Given the description of an element on the screen output the (x, y) to click on. 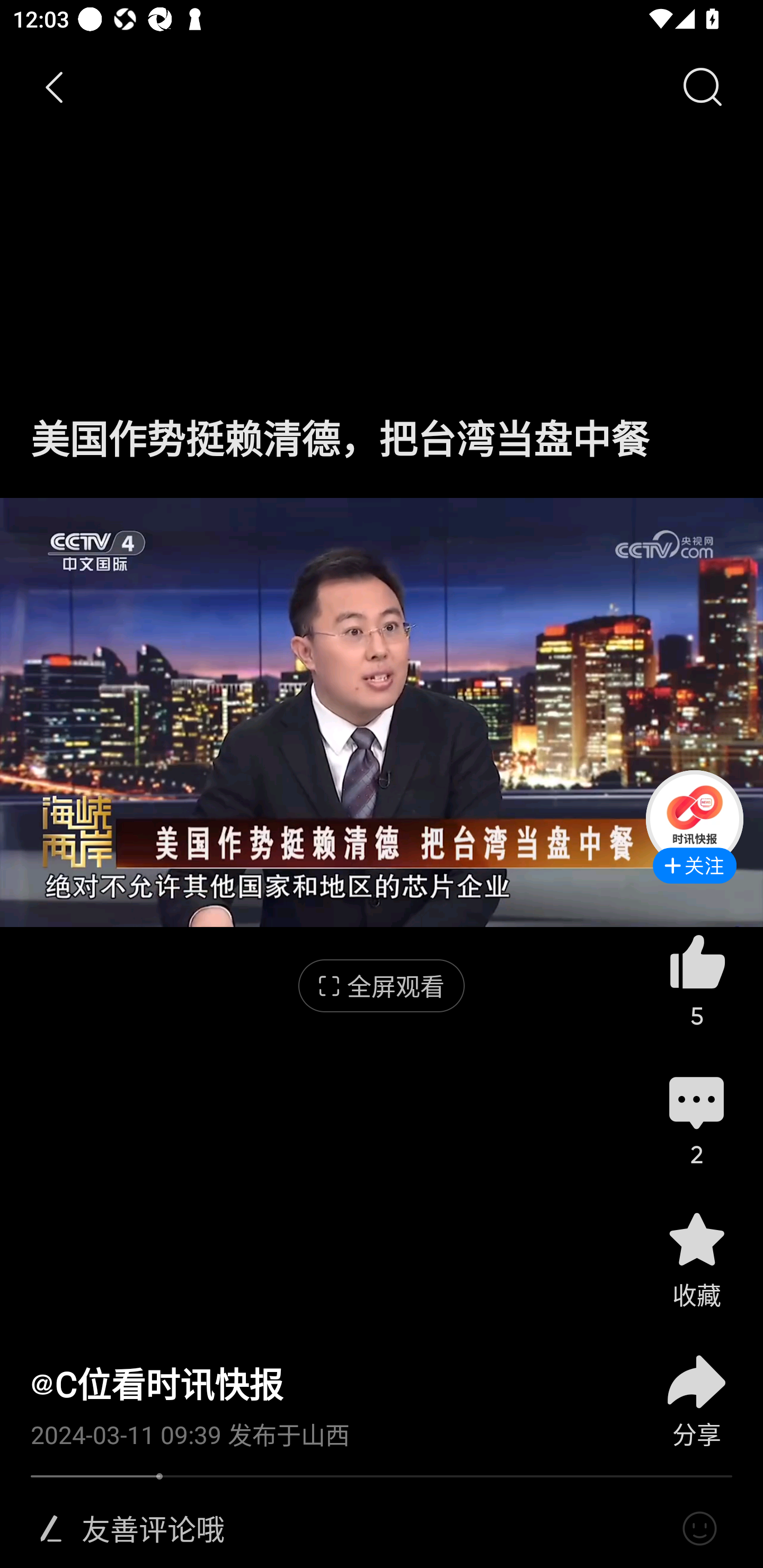
 返回 (54, 87)
 搜索 (701, 87)
赞 5 (696, 979)
全屏观看 (381, 985)
评论  2 (696, 1118)
收藏 (696, 1258)
分享  分享 (696, 1389)
C位看时讯快报 (156, 1383)
2024-03-11 09:39 发布于山西 (321, 1428)
友善评论哦 发表评论 (373, 1529)
 (50, 1528)
 (699, 1528)
